Given the description of an element on the screen output the (x, y) to click on. 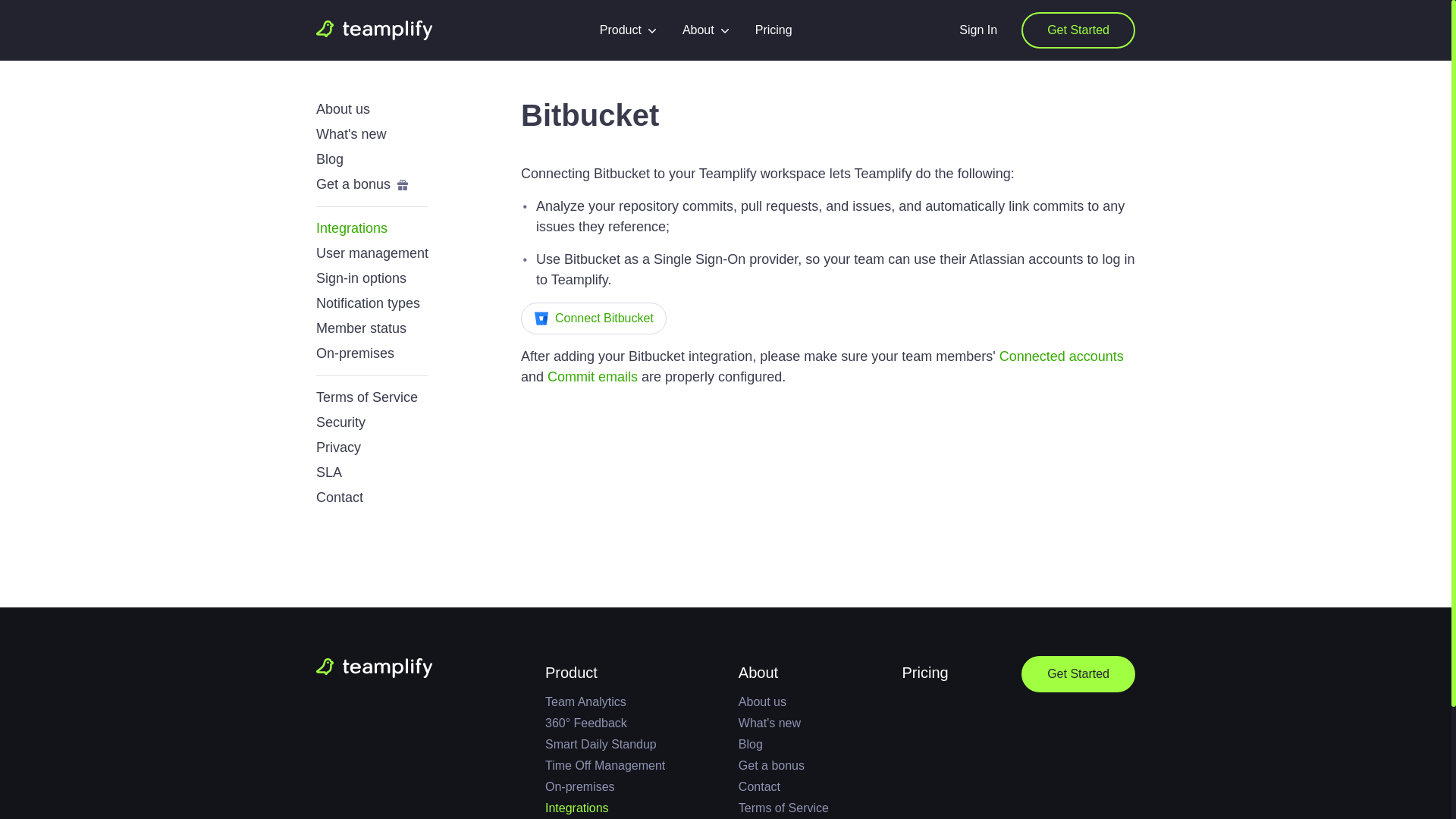
Get Started (1078, 30)
Notification types (367, 303)
Pricing (773, 30)
Connect Bitbucket (593, 318)
SLA (328, 472)
About us (342, 109)
Product (628, 30)
User management (371, 253)
Commit emails (592, 376)
Team Analytics (604, 701)
